Given the description of an element on the screen output the (x, y) to click on. 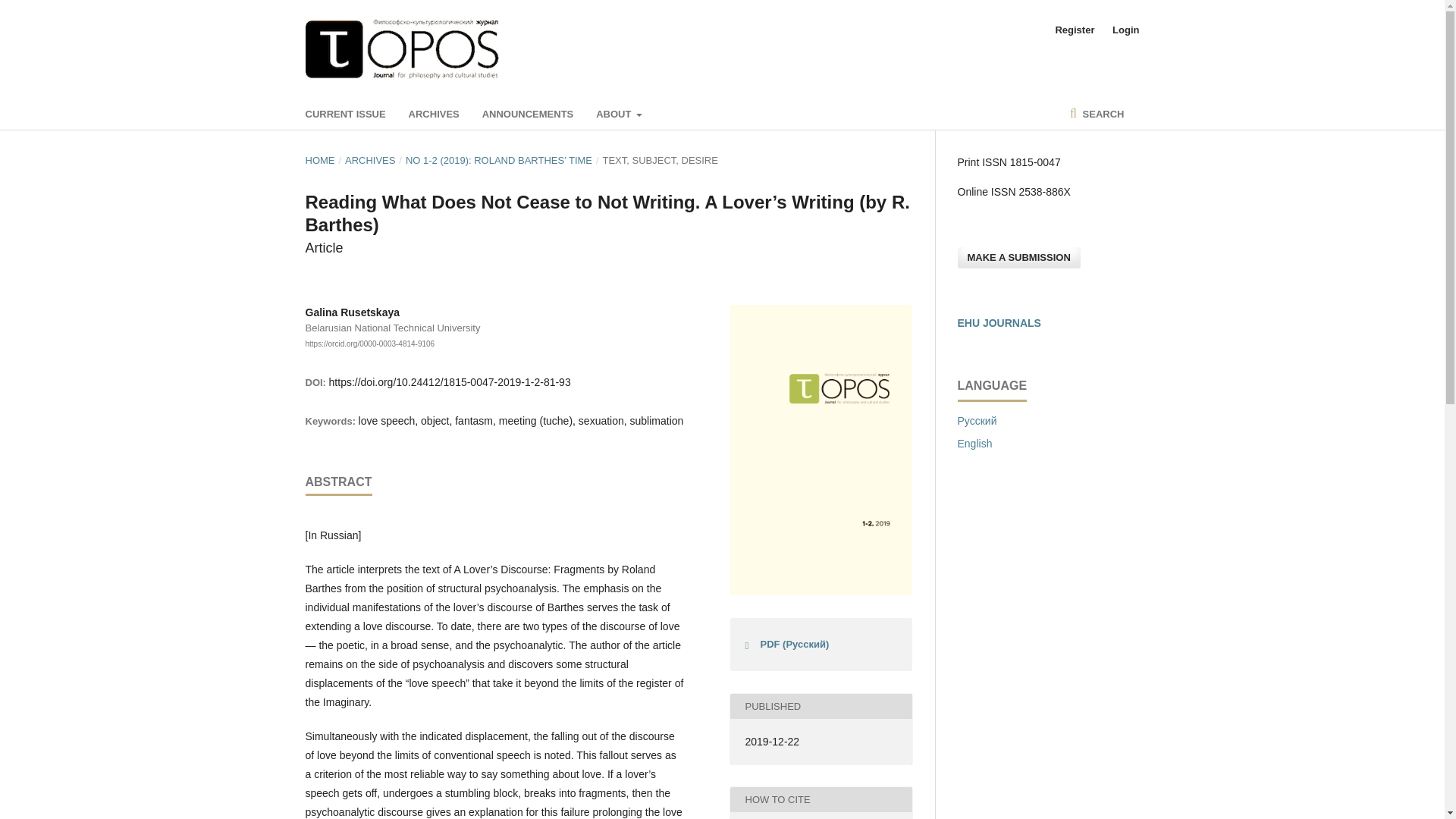
HOME (319, 160)
Register (1074, 29)
ARCHIVES (434, 114)
ABOUT (618, 114)
Login (1121, 29)
ANNOUNCEMENTS (527, 114)
CURRENT ISSUE (344, 114)
ARCHIVES (369, 160)
SEARCH (1096, 114)
